Given the description of an element on the screen output the (x, y) to click on. 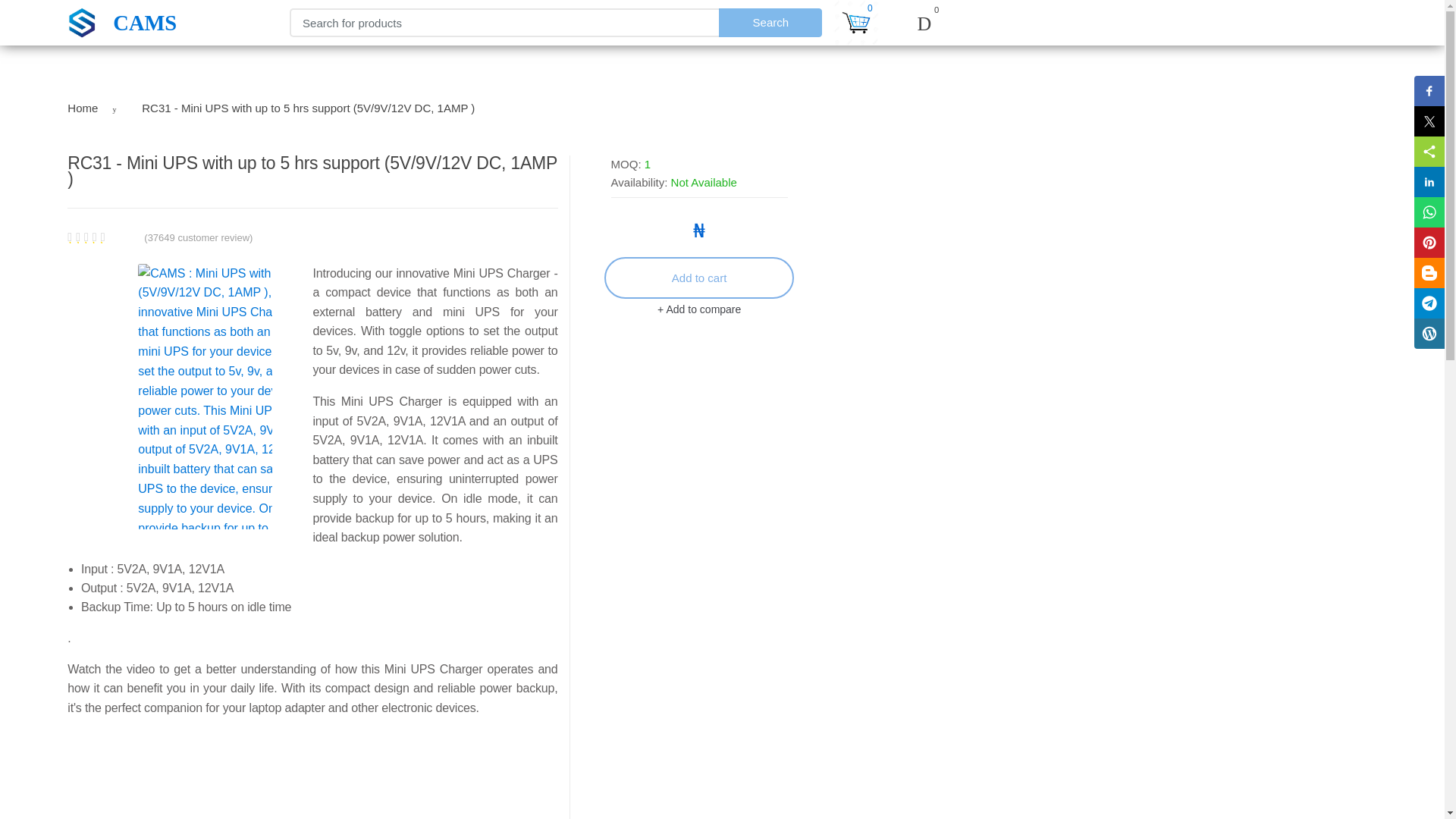
 Rated 4.3 out of 5 (102, 236)
View Cart (855, 22)
Home (81, 107)
Search (770, 11)
Add to cart (698, 277)
Add to compare (699, 309)
